Given the description of an element on the screen output the (x, y) to click on. 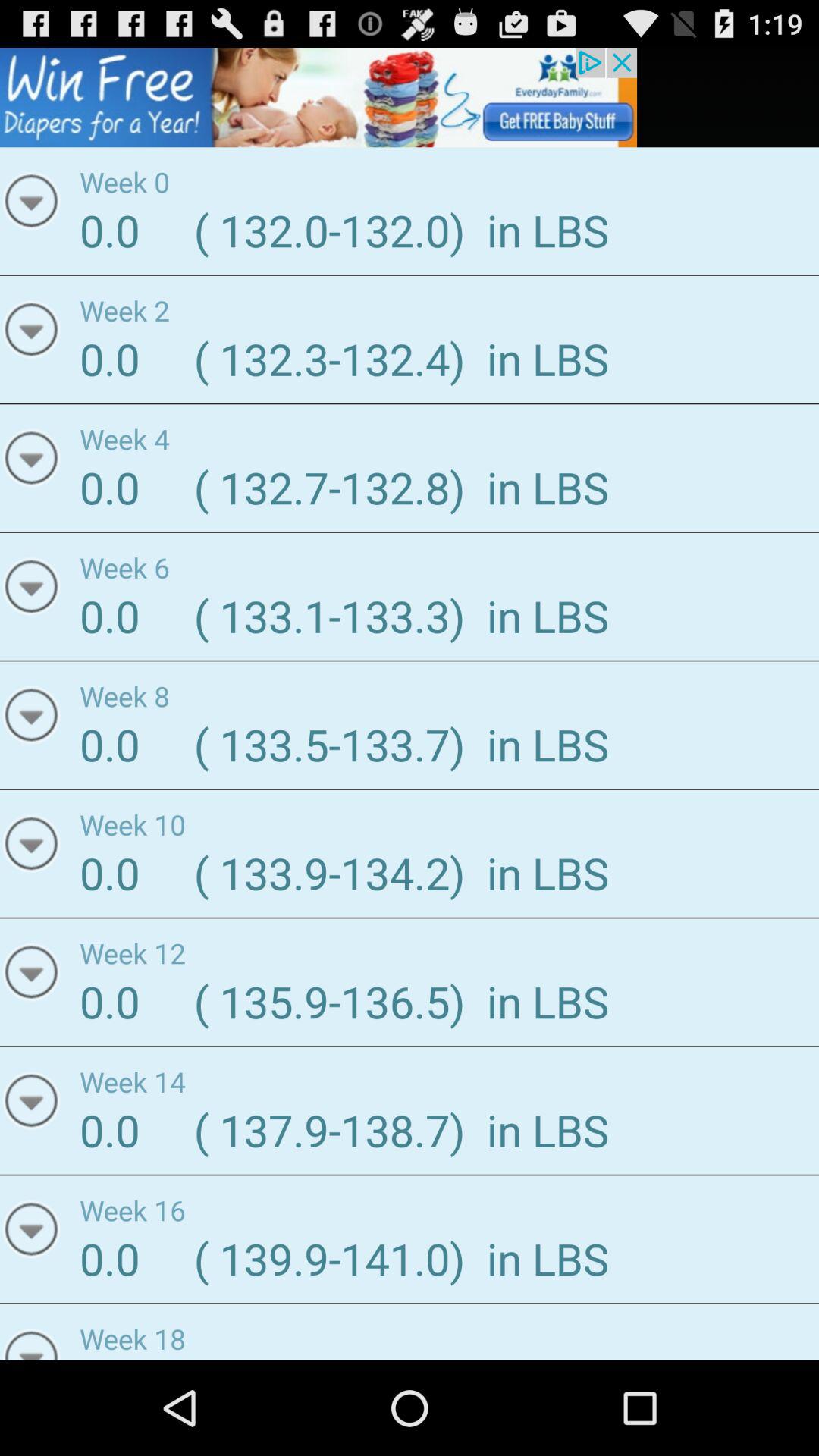
show advertisement (318, 97)
